Given the description of an element on the screen output the (x, y) to click on. 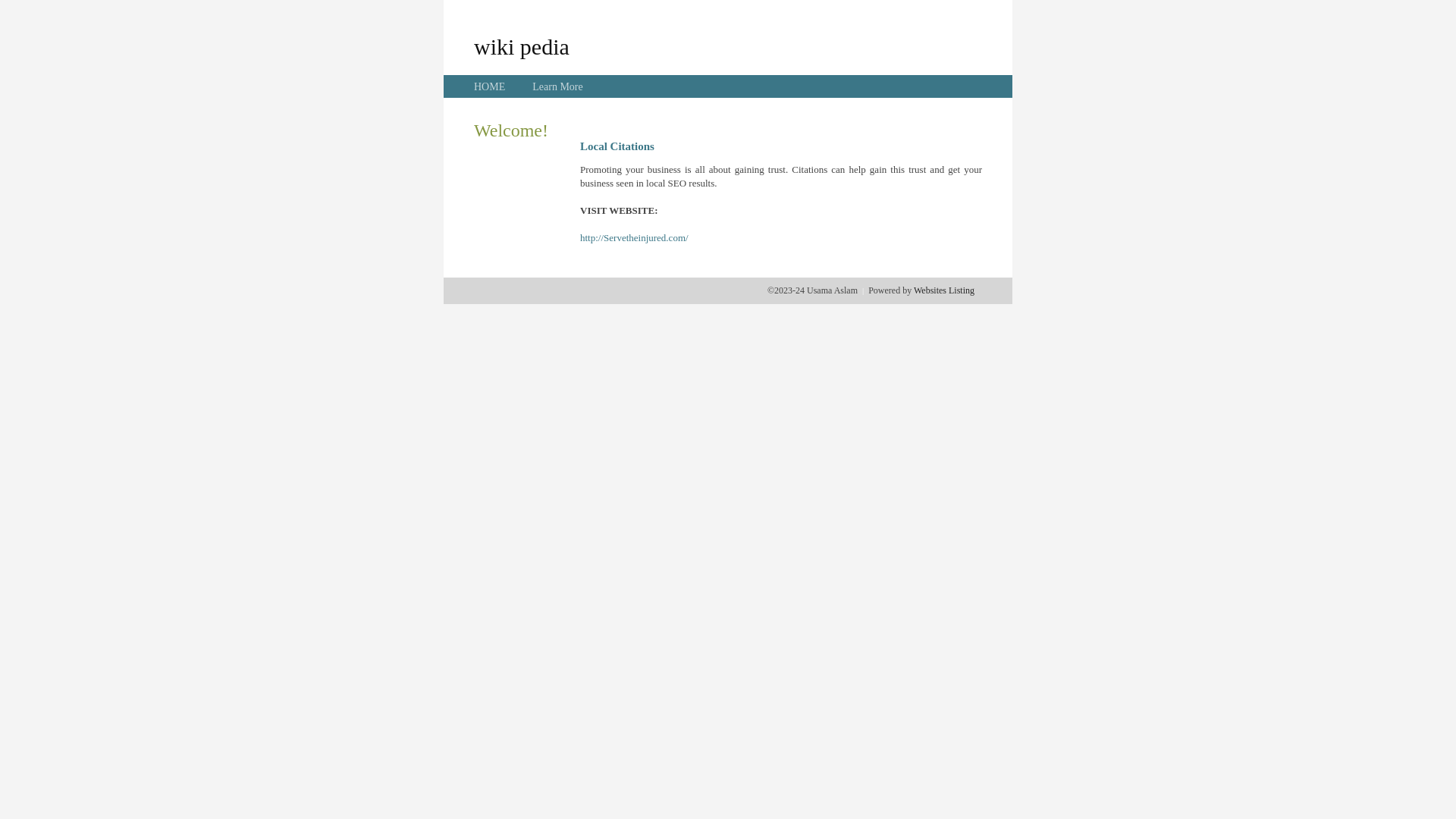
wiki pedia Element type: text (521, 46)
http://Servetheinjured.com/ Element type: text (634, 237)
Learn More Element type: text (557, 86)
HOME Element type: text (489, 86)
Websites Listing Element type: text (943, 290)
